Given the description of an element on the screen output the (x, y) to click on. 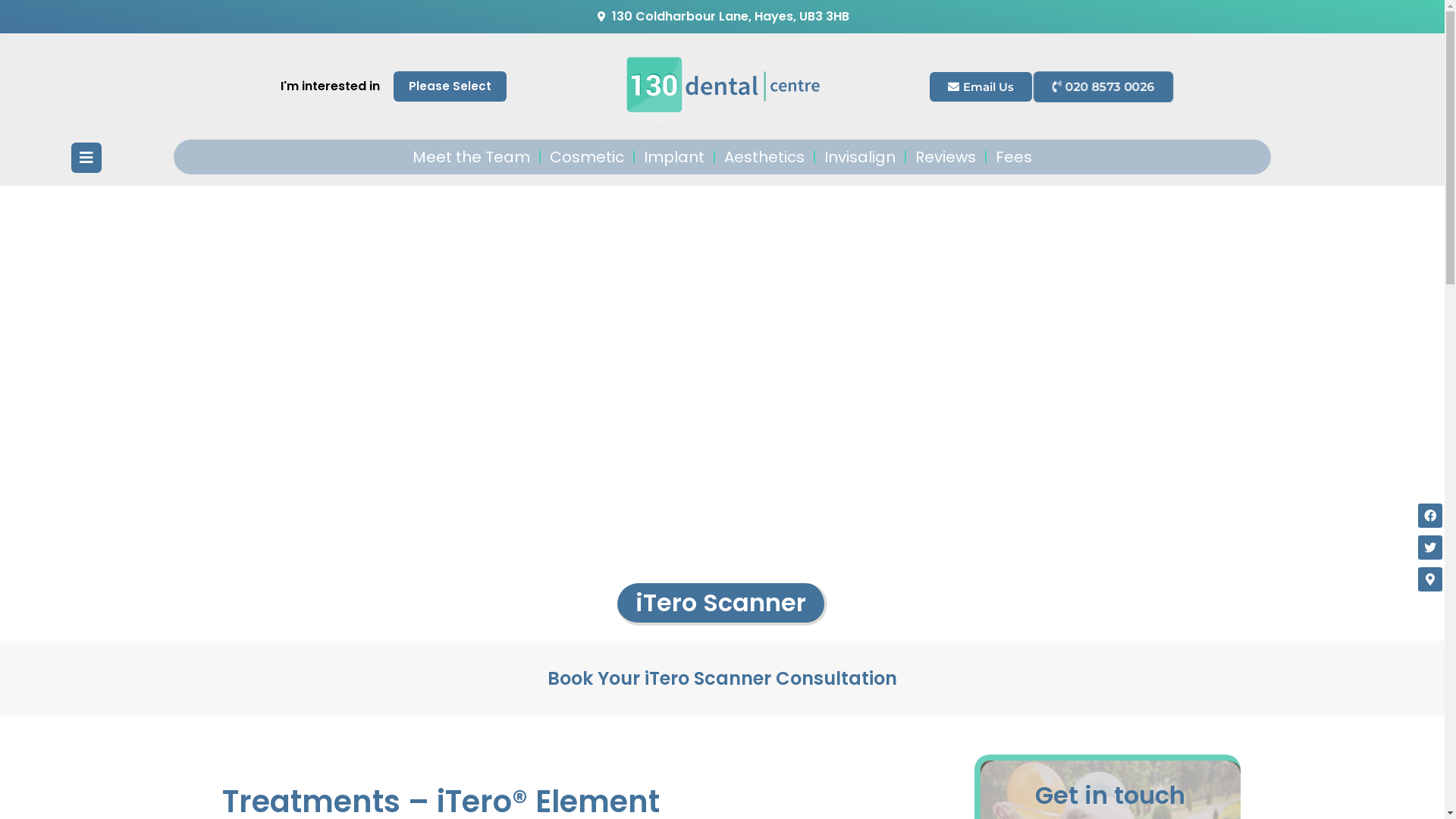
Reviews Element type: text (945, 156)
Implant Element type: text (673, 156)
Aesthetics Element type: text (764, 156)
020 8573 0026 Element type: text (1102, 85)
Cosmetic Element type: text (586, 156)
Meet the Team Element type: text (471, 156)
Please Select Element type: text (448, 86)
Fees Element type: text (1013, 156)
Email Us Element type: text (980, 85)
Invisalign Element type: text (859, 156)
130 Coldharbour Lane, Hayes, UB3 3HB Element type: text (722, 16)
